Given the description of an element on the screen output the (x, y) to click on. 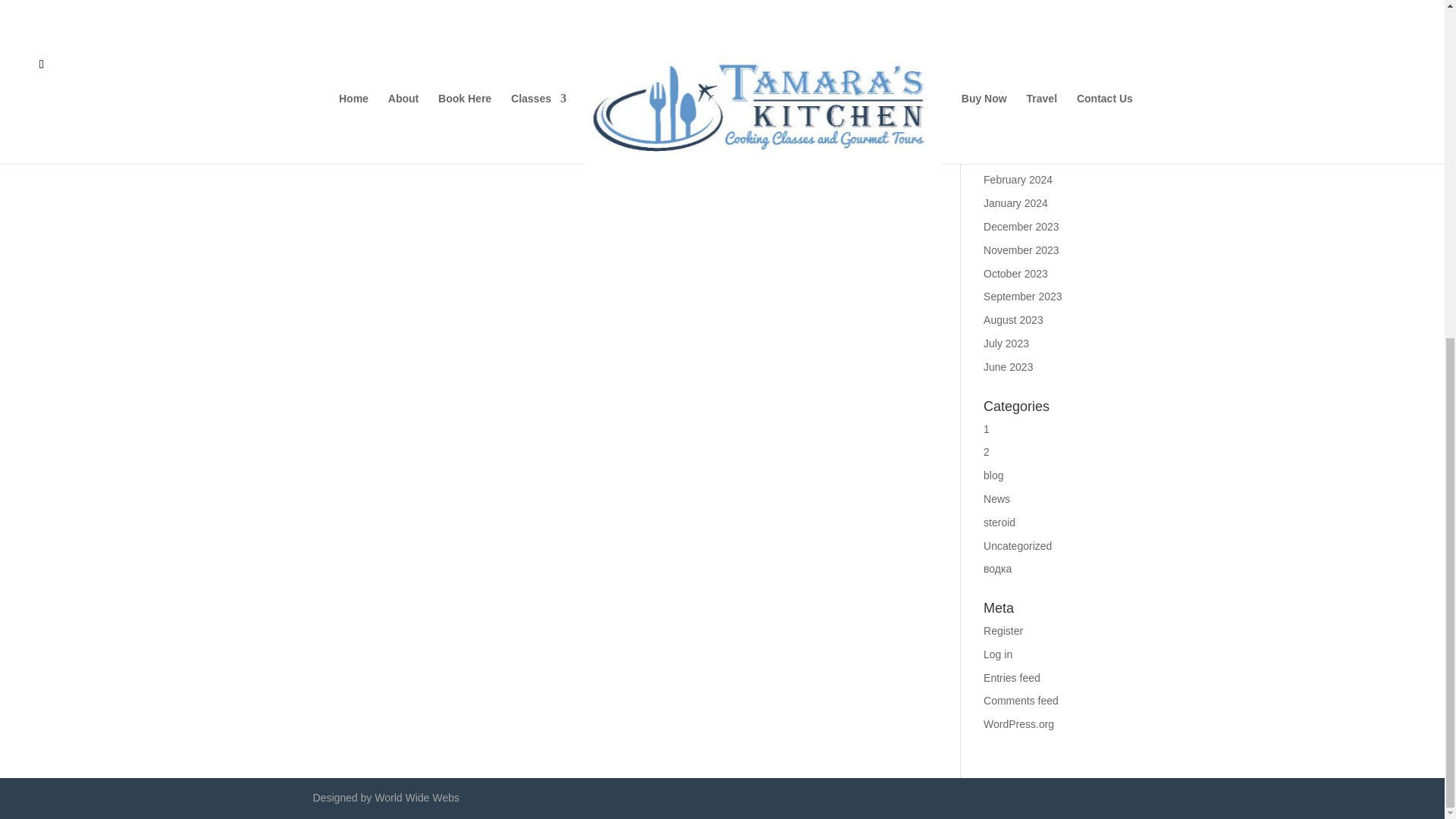
October 2023 (1016, 273)
May 2024 (1006, 110)
January 2024 (1016, 203)
April 2024 (1007, 133)
March 2024 (1011, 156)
July 2024 (1006, 62)
November 2023 (1021, 250)
February 2024 (1018, 179)
December 2023 (1021, 226)
June 2024 (1008, 86)
